Given the description of an element on the screen output the (x, y) to click on. 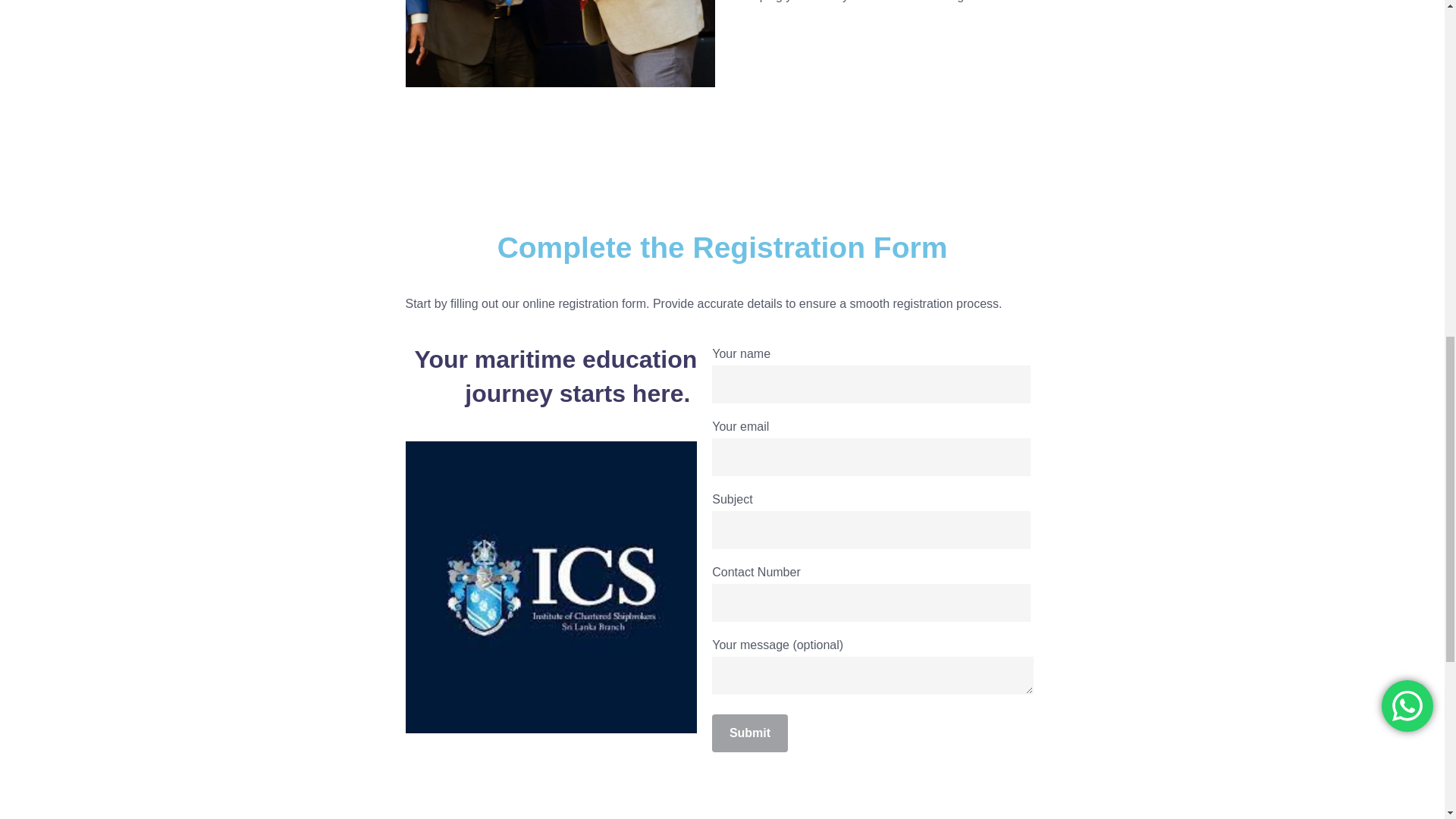
Submit (749, 733)
Submit (749, 733)
